Given the description of an element on the screen output the (x, y) to click on. 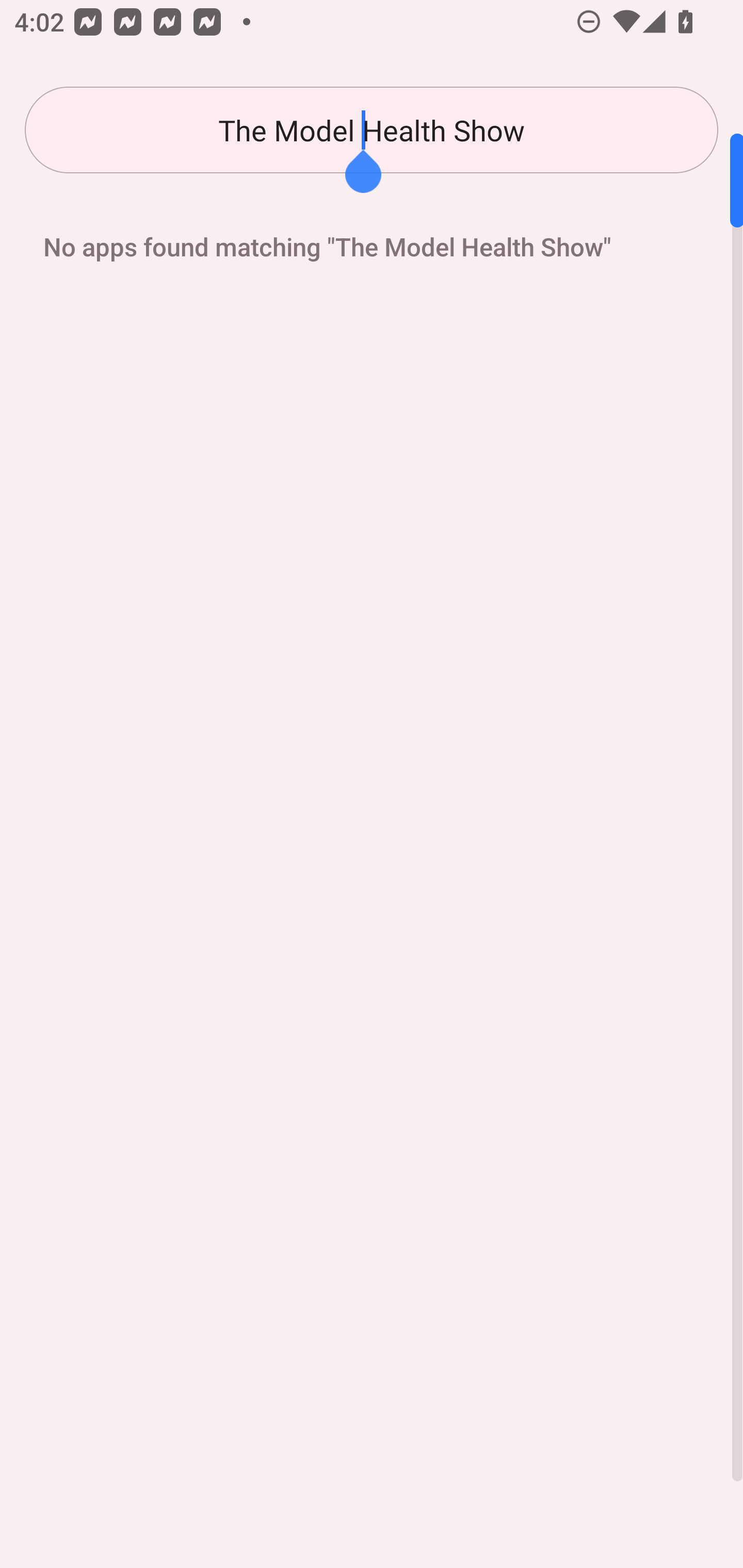
The Model Health Show (371, 130)
